Given the description of an element on the screen output the (x, y) to click on. 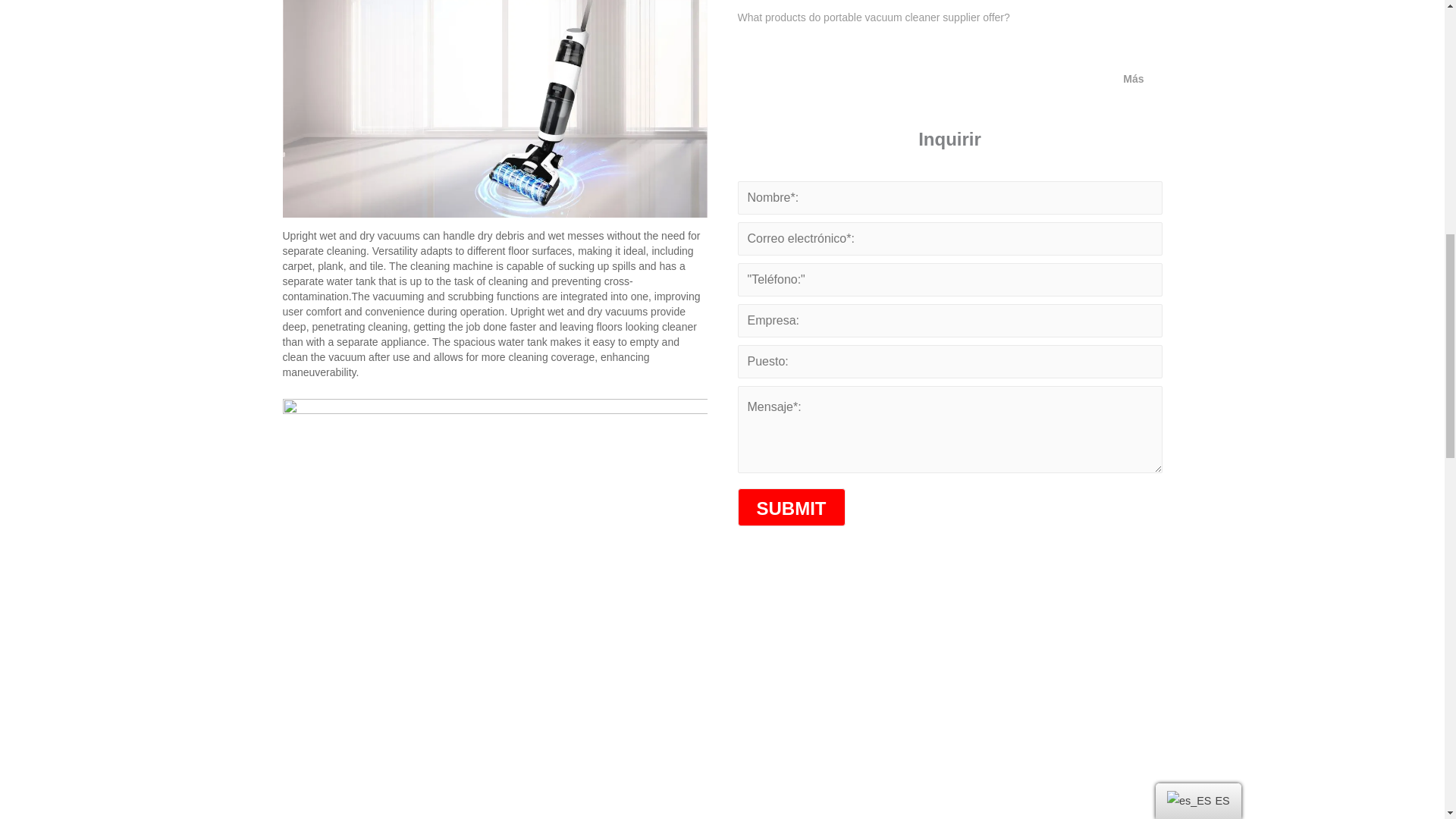
What products do portable vacuum cleaner supplier offer? (872, 17)
What products do portable vacuum cleaner supplier offer? (872, 17)
SUBMIT (790, 507)
